Given the description of an element on the screen output the (x, y) to click on. 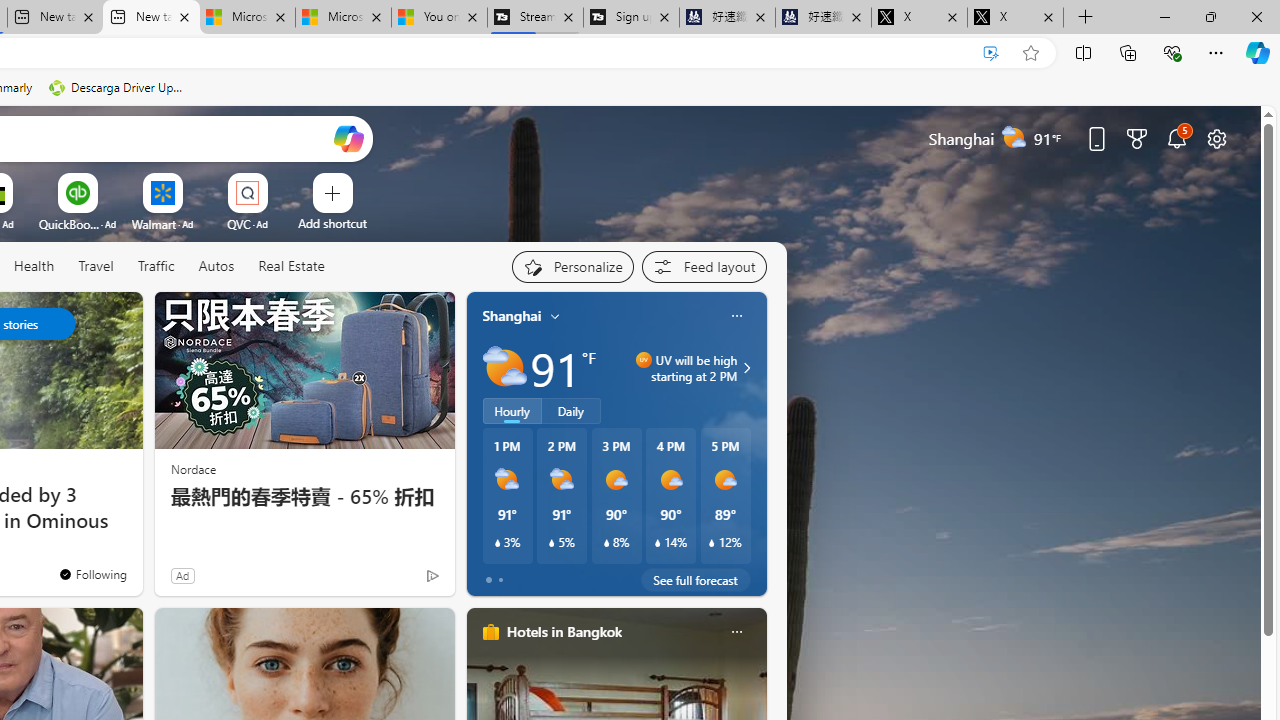
Enhance video (991, 53)
See full forecast (695, 579)
You're following Newsweek (92, 573)
Feed settings (703, 266)
